Given the description of an element on the screen output the (x, y) to click on. 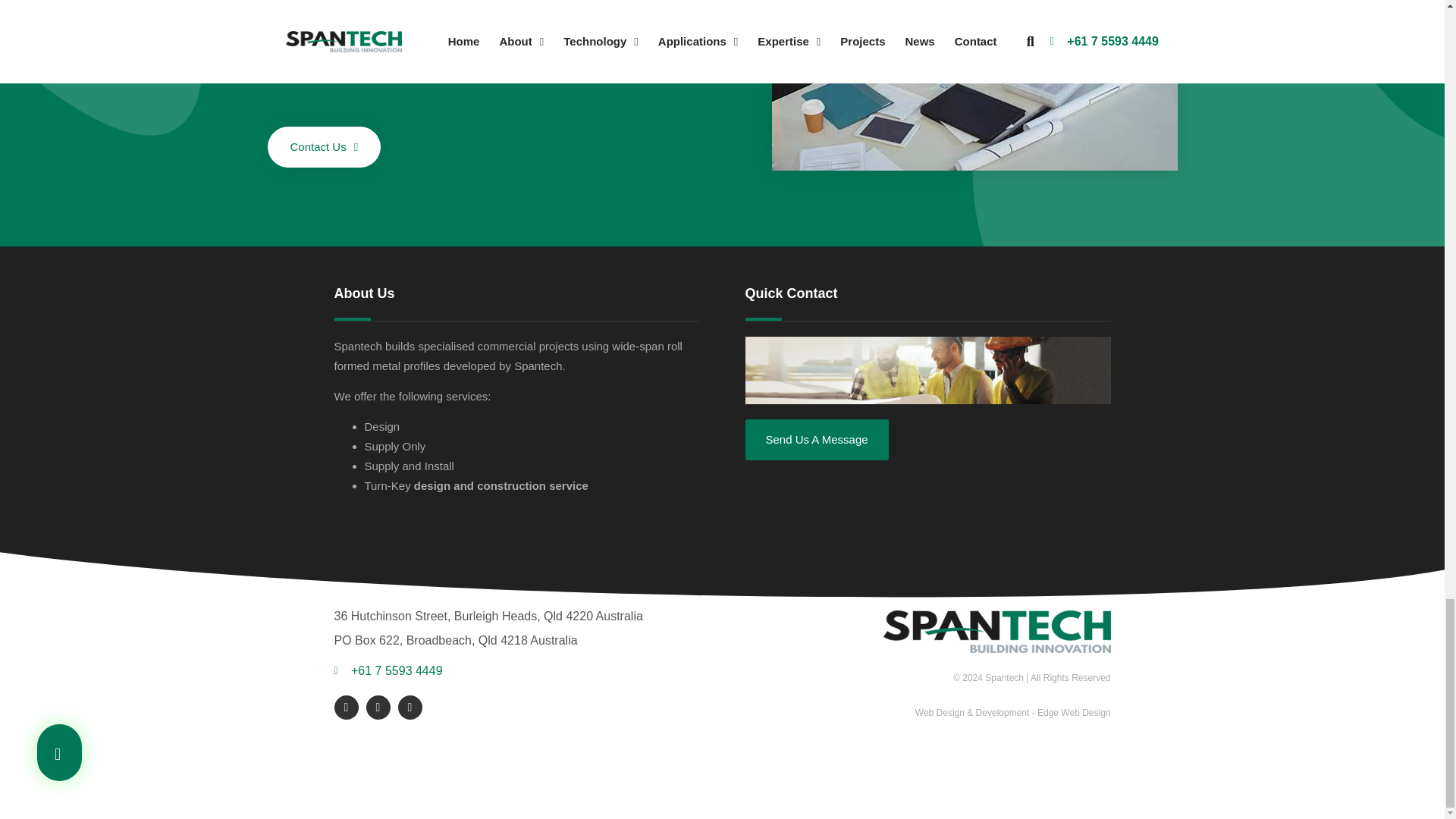
Long-Span-Roofing-Solutions (974, 85)
